Given the description of an element on the screen output the (x, y) to click on. 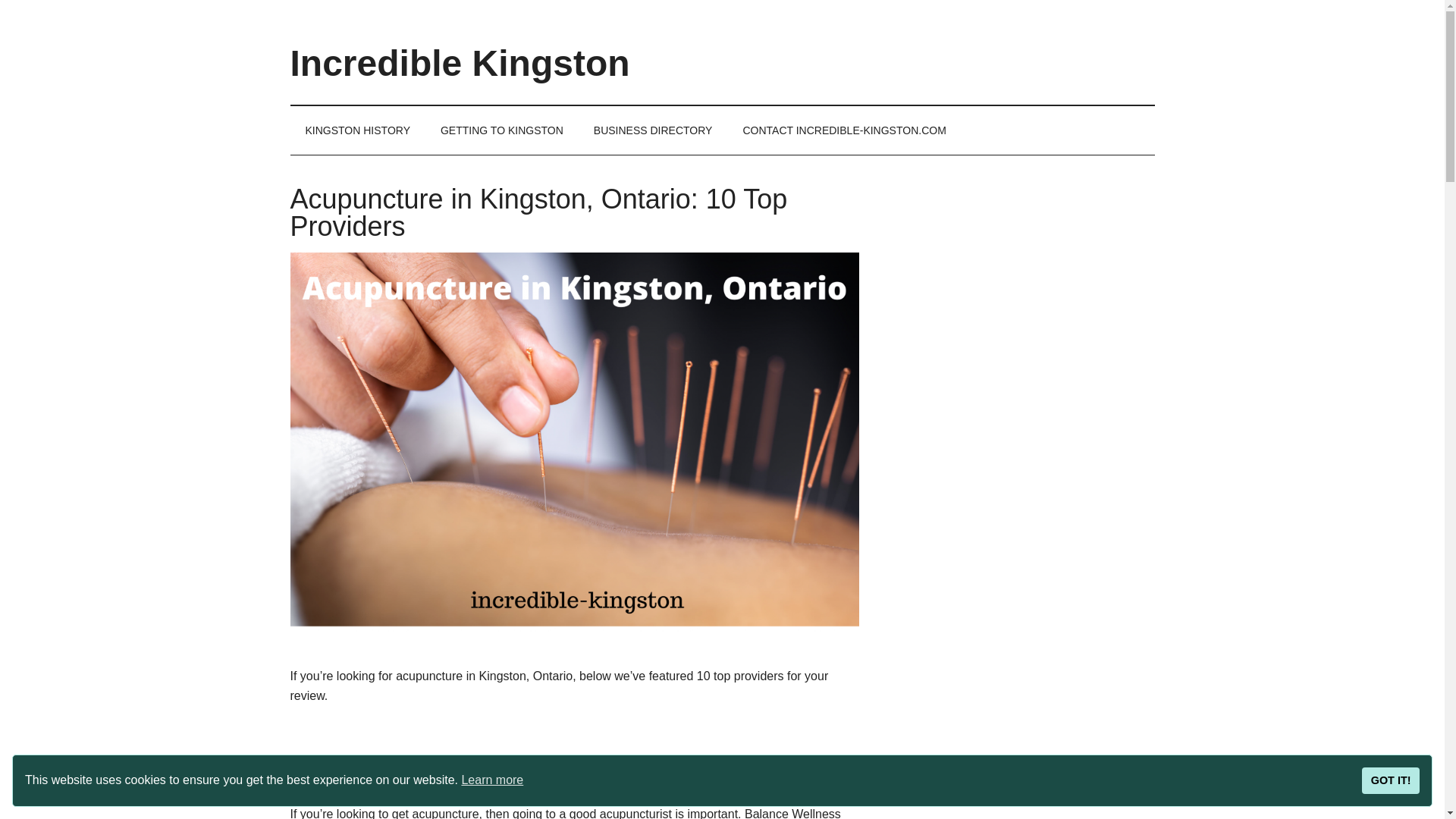
Learn more (491, 780)
BUSINESS DIRECTORY (653, 130)
Incredible Kingston (458, 63)
GOT IT! (1390, 780)
CONTACT INCREDIBLE-KINGSTON.COM (843, 130)
Balance Wellness Acupuncture (471, 778)
KINGSTON HISTORY (357, 130)
GETTING TO KINGSTON (501, 130)
